Given the description of an element on the screen output the (x, y) to click on. 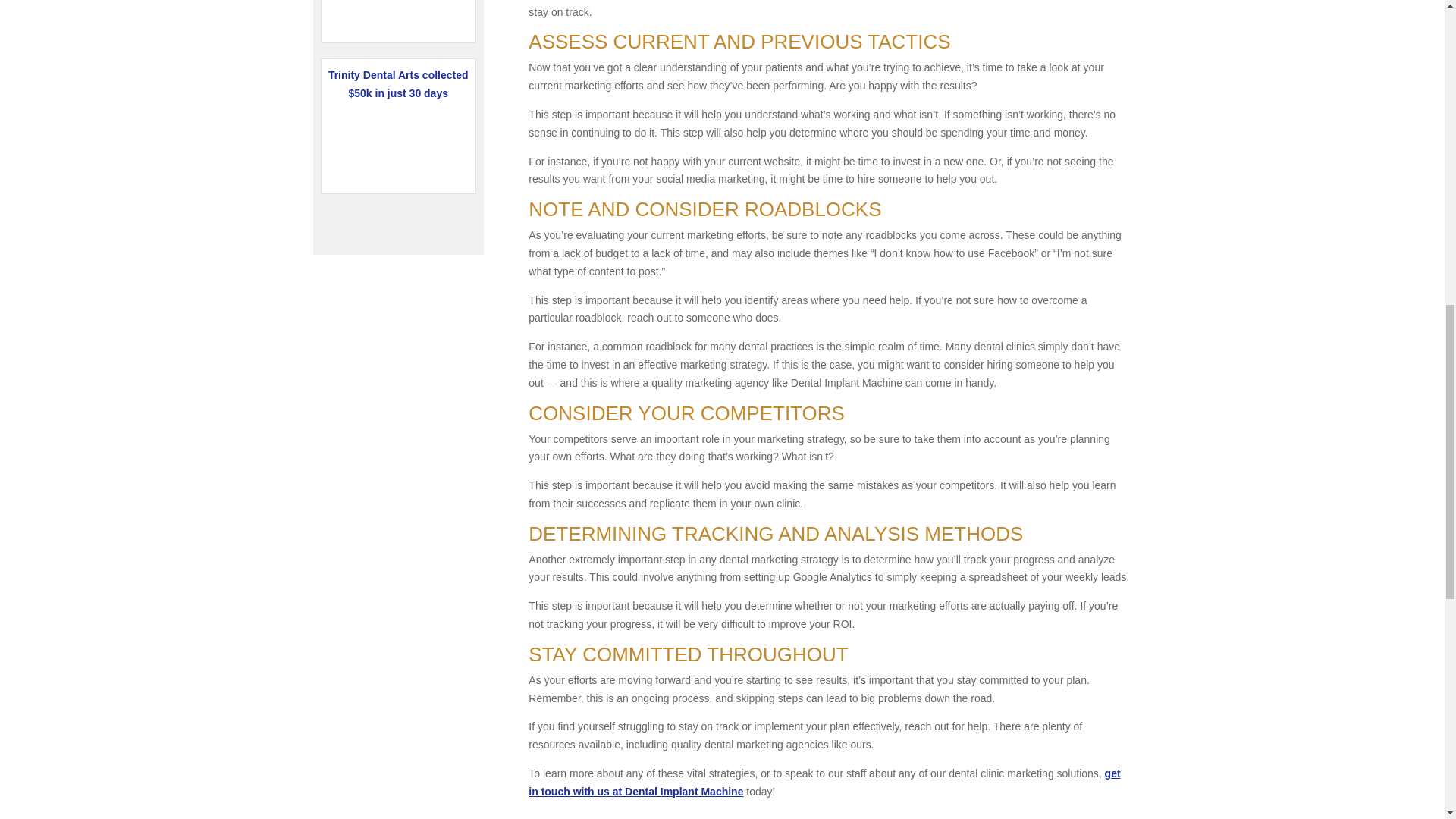
Dr. Fenton Testimonial (397, 17)
HUGE Dental Implant Marketing ROI (397, 144)
get in touch with us at Dental Implant Machine (823, 782)
